Given the description of an element on the screen output the (x, y) to click on. 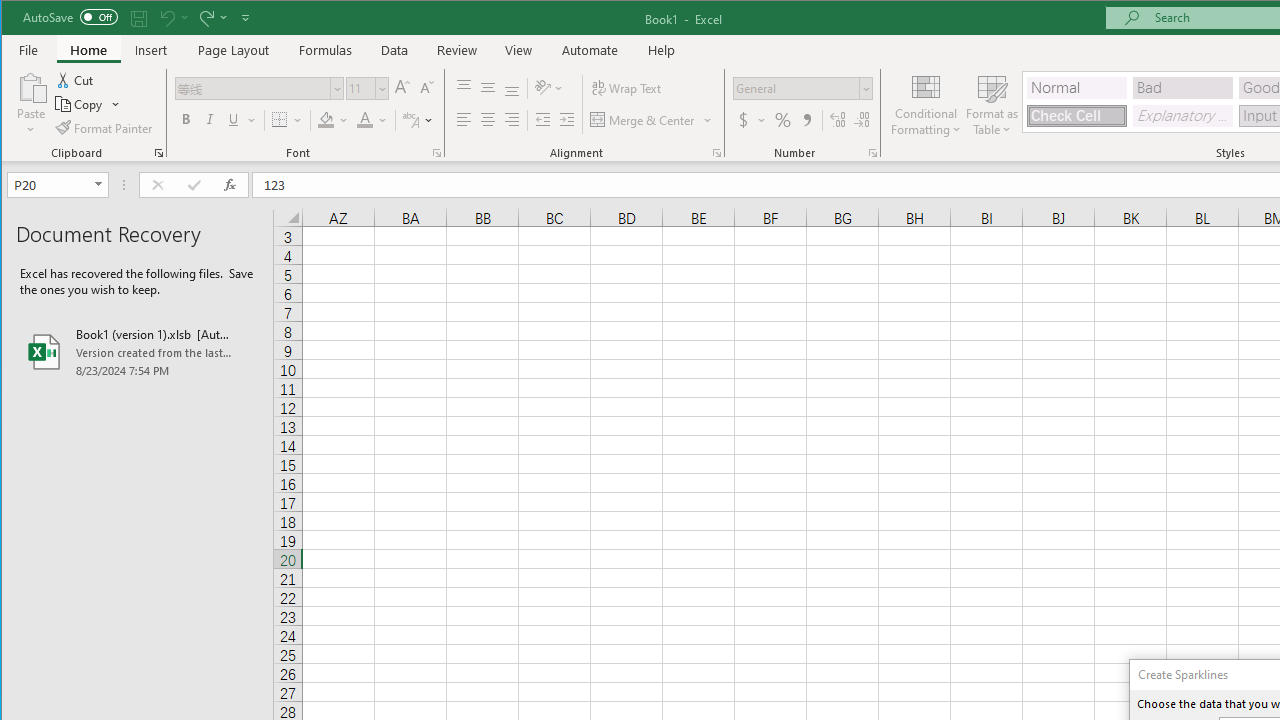
Font Color RGB(255, 0, 0) (365, 119)
Bold (186, 119)
Decrease Font Size (425, 88)
Font (253, 88)
Explanatory Text (1183, 116)
Copy (80, 103)
Accounting Number Format (744, 119)
Office Clipboard... (158, 152)
Format Painter (105, 127)
Merge & Center (651, 119)
